Given the description of an element on the screen output the (x, y) to click on. 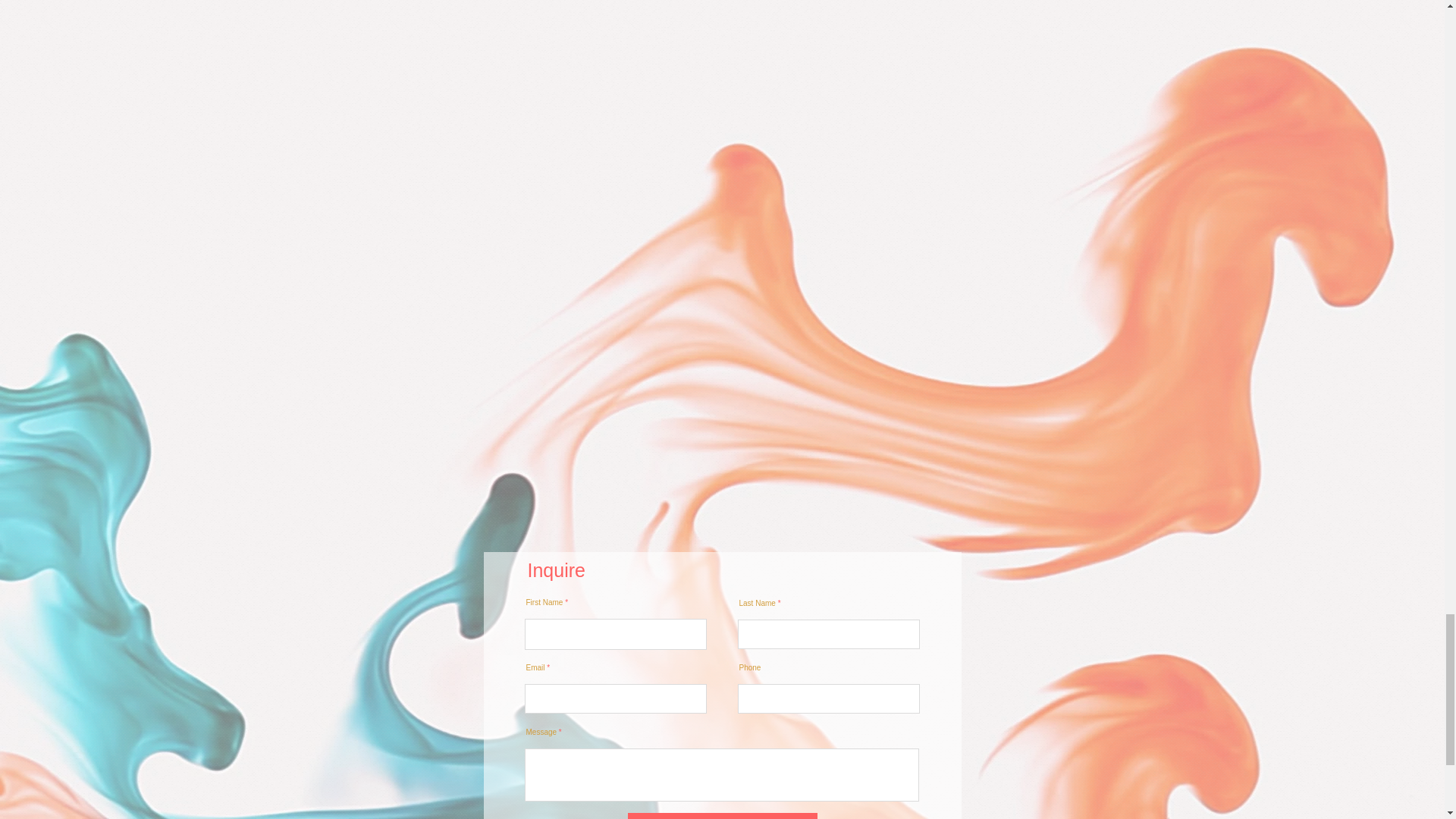
Submit (721, 816)
